Given the description of an element on the screen output the (x, y) to click on. 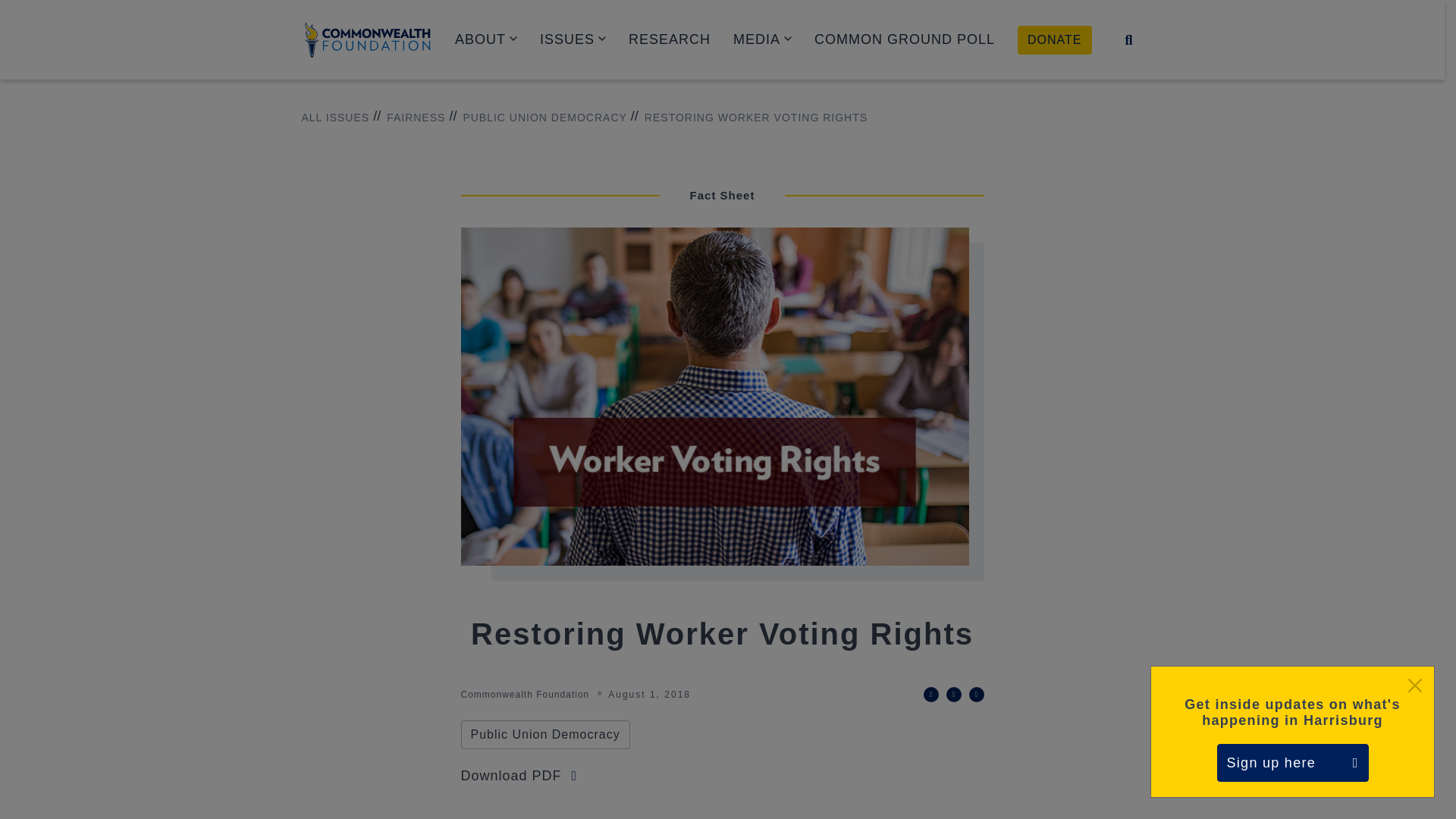
ABOUT (485, 39)
LinkedIn (953, 694)
MEDIA (762, 39)
RESTORING WORKER VOTING RIGHTS (748, 117)
FAIRNESS (408, 117)
COMMON GROUND POLL (903, 39)
Download PDF (519, 775)
ISSUES (572, 39)
Twitter (931, 694)
Commonwealth Foundation (366, 39)
Email (976, 694)
ALL ISSUES (335, 117)
DONATE (1053, 39)
RESEARCH (669, 39)
PUBLIC UNION DEMOCRACY (537, 117)
